Given the description of an element on the screen output the (x, y) to click on. 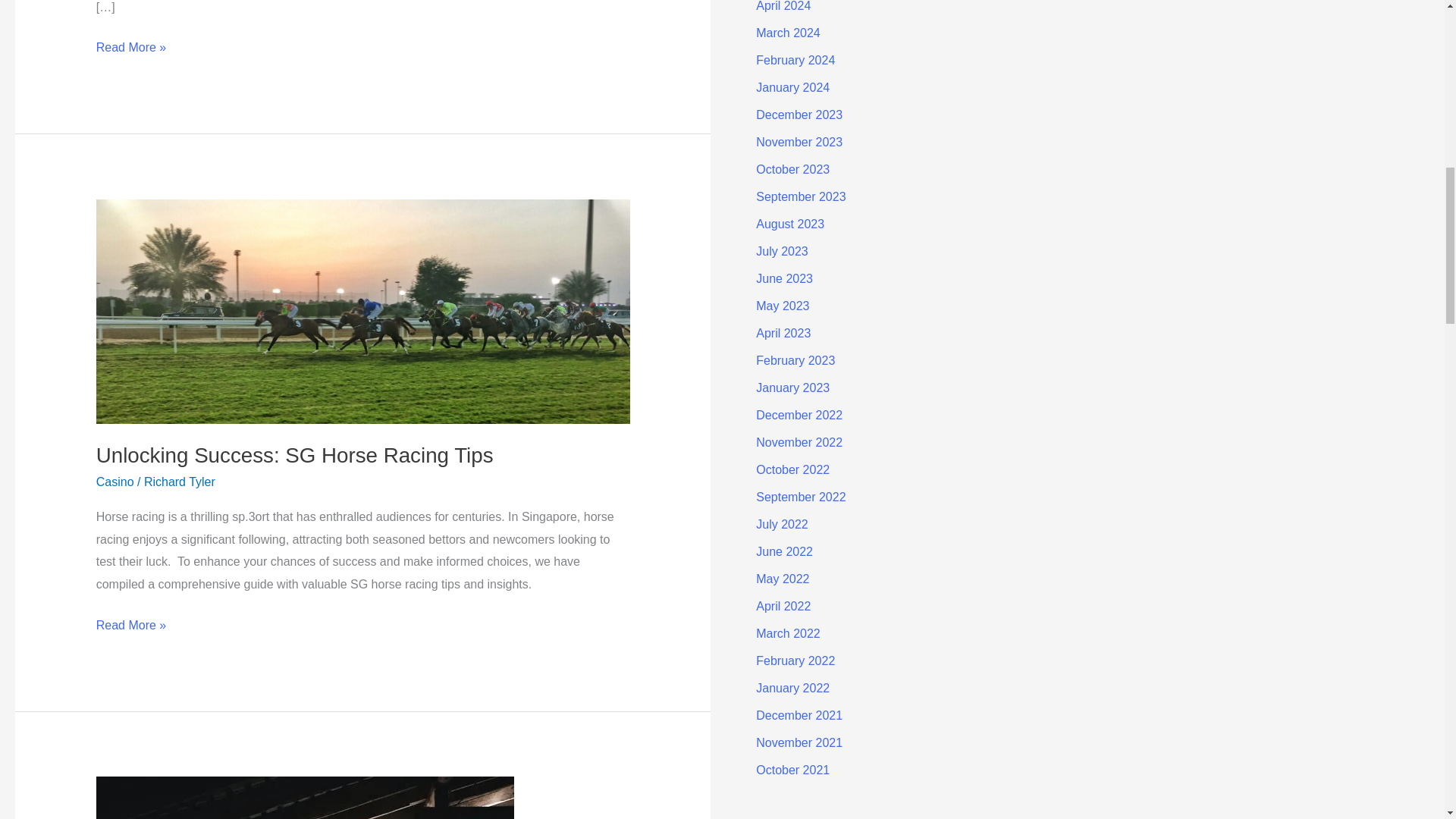
View all posts by Richard Tyler (179, 481)
Casino (114, 481)
Richard Tyler (179, 481)
Unlocking Success: SG Horse Racing Tips (294, 454)
